Given the description of an element on the screen output the (x, y) to click on. 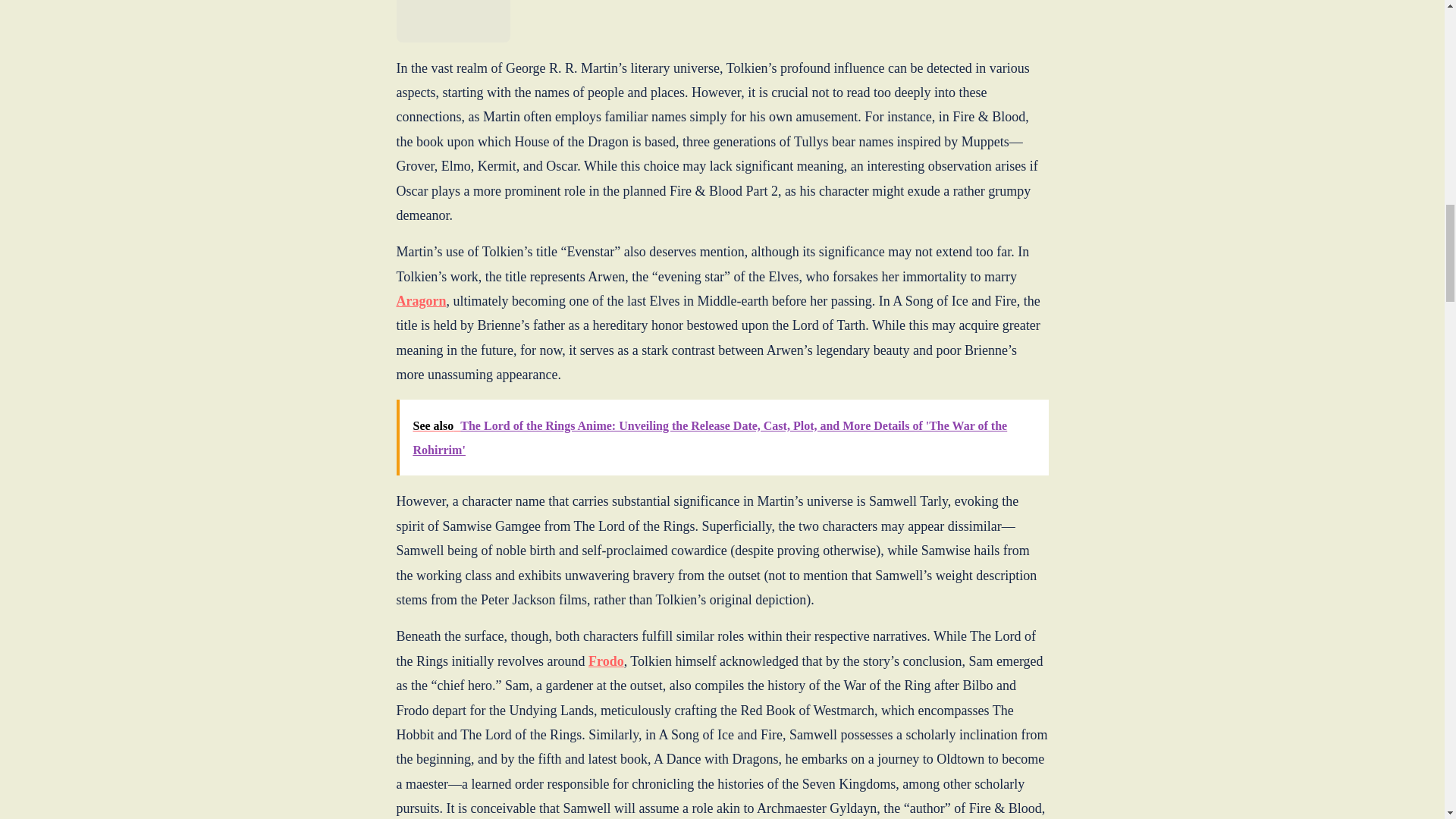
Aragorn (420, 300)
Frodo (606, 661)
